Given the description of an element on the screen output the (x, y) to click on. 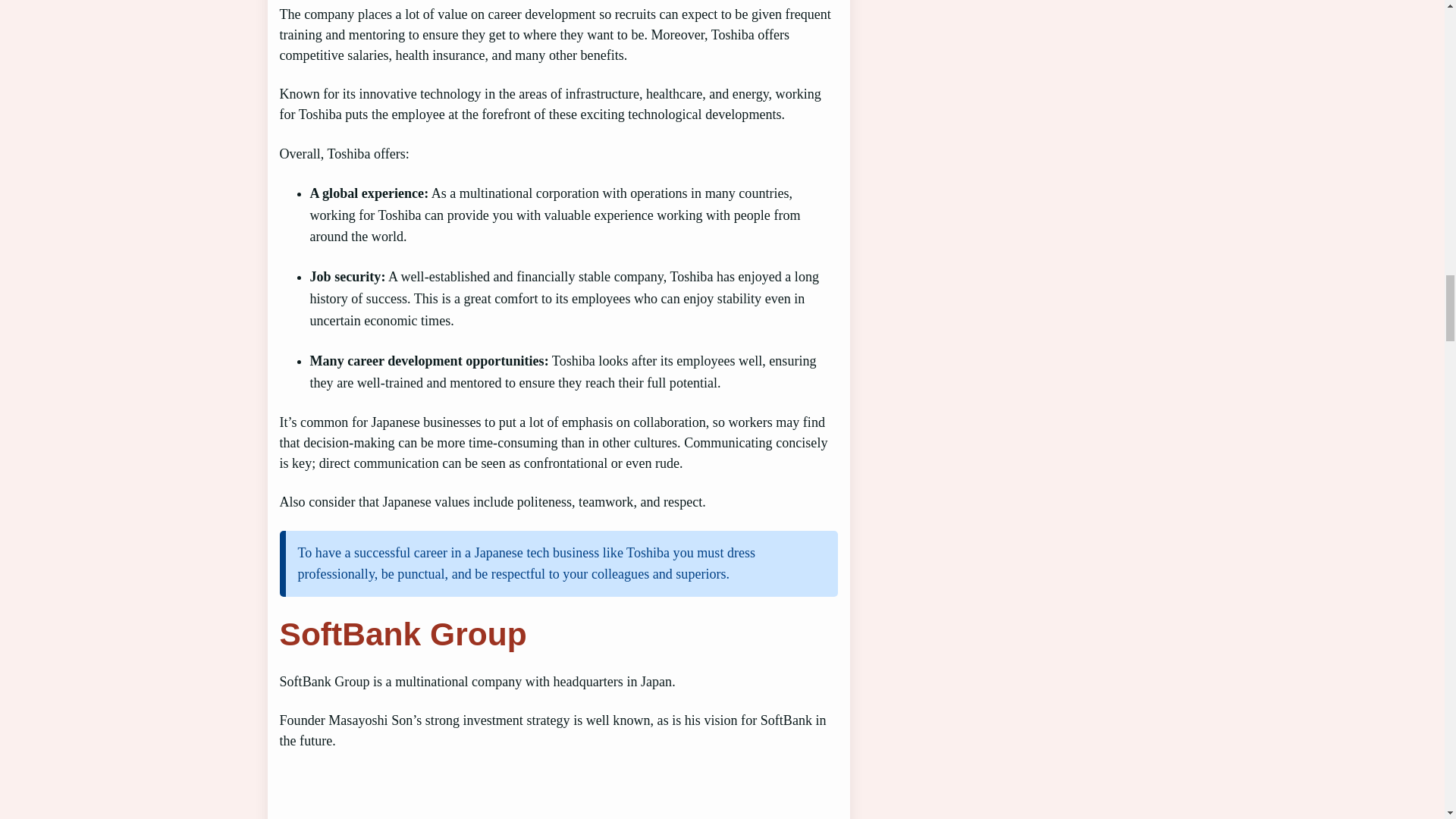
Embedded post (548, 794)
